Given the description of an element on the screen output the (x, y) to click on. 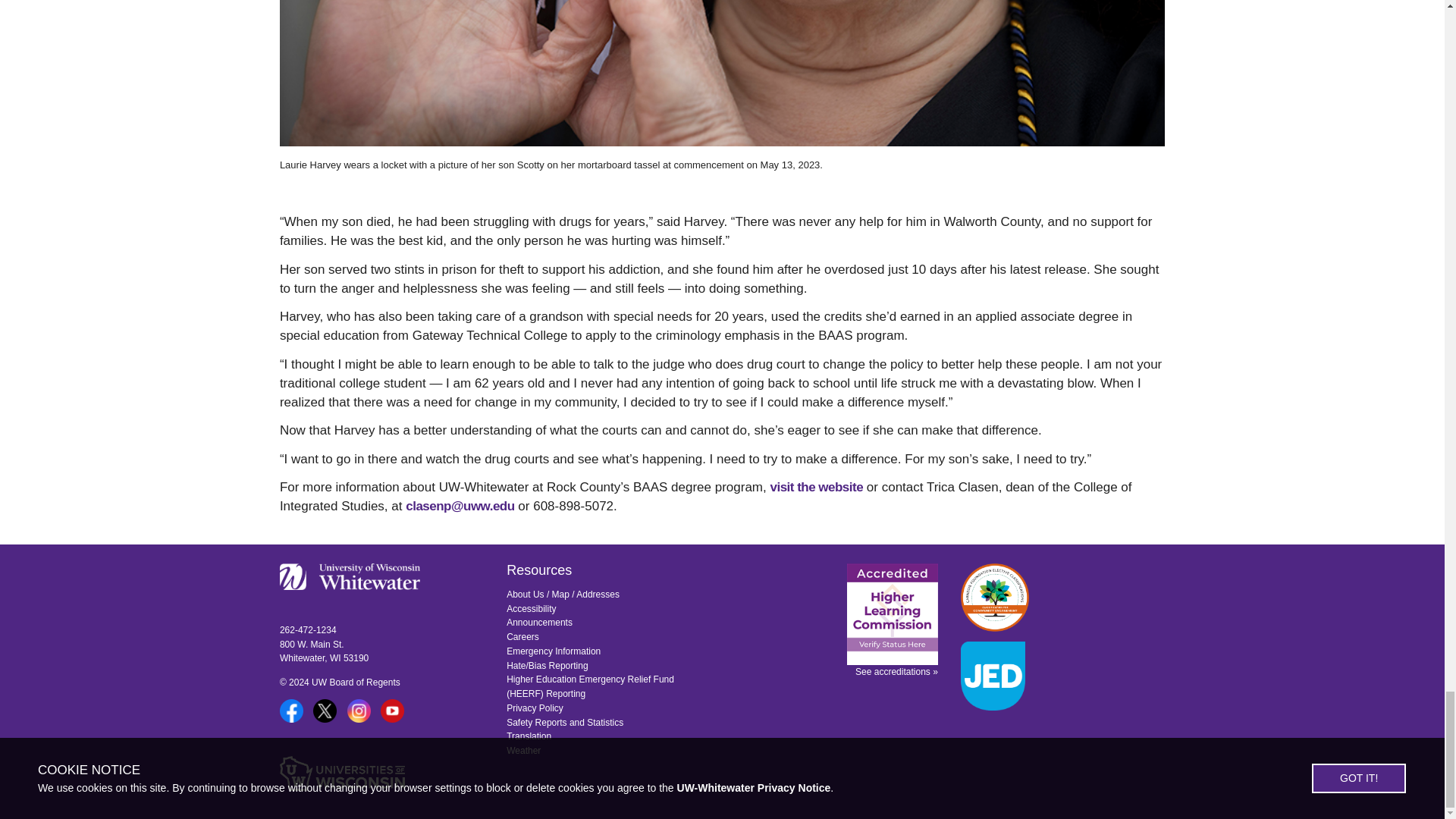
Community Engagement Classification (994, 597)
